Given the description of an element on the screen output the (x, y) to click on. 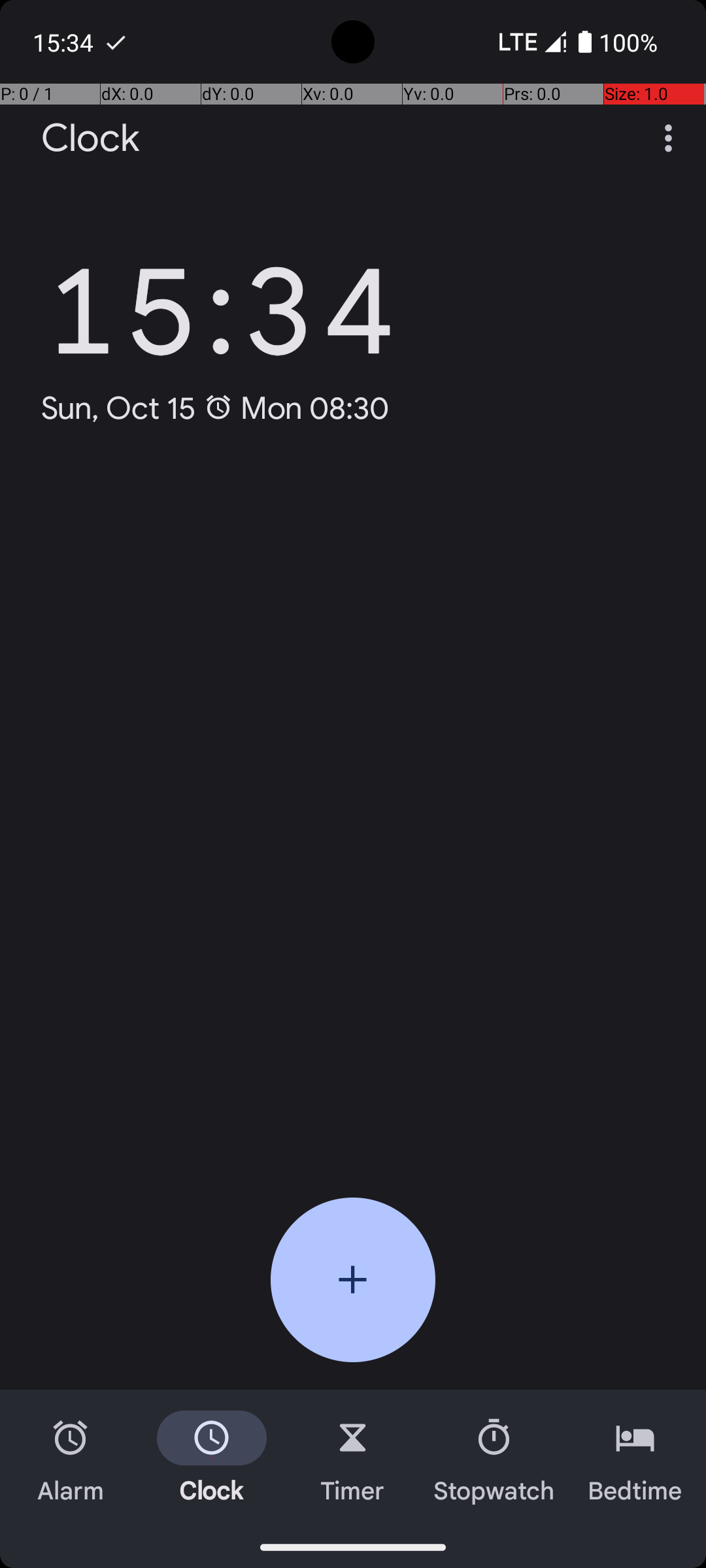
Sun, Oct 15 A Mon 08:30 Element type: android.widget.TextView (215, 407)
Contacts notification: Finished exporting contacts.vcf. Element type: android.widget.ImageView (115, 41)
